Given the description of an element on the screen output the (x, y) to click on. 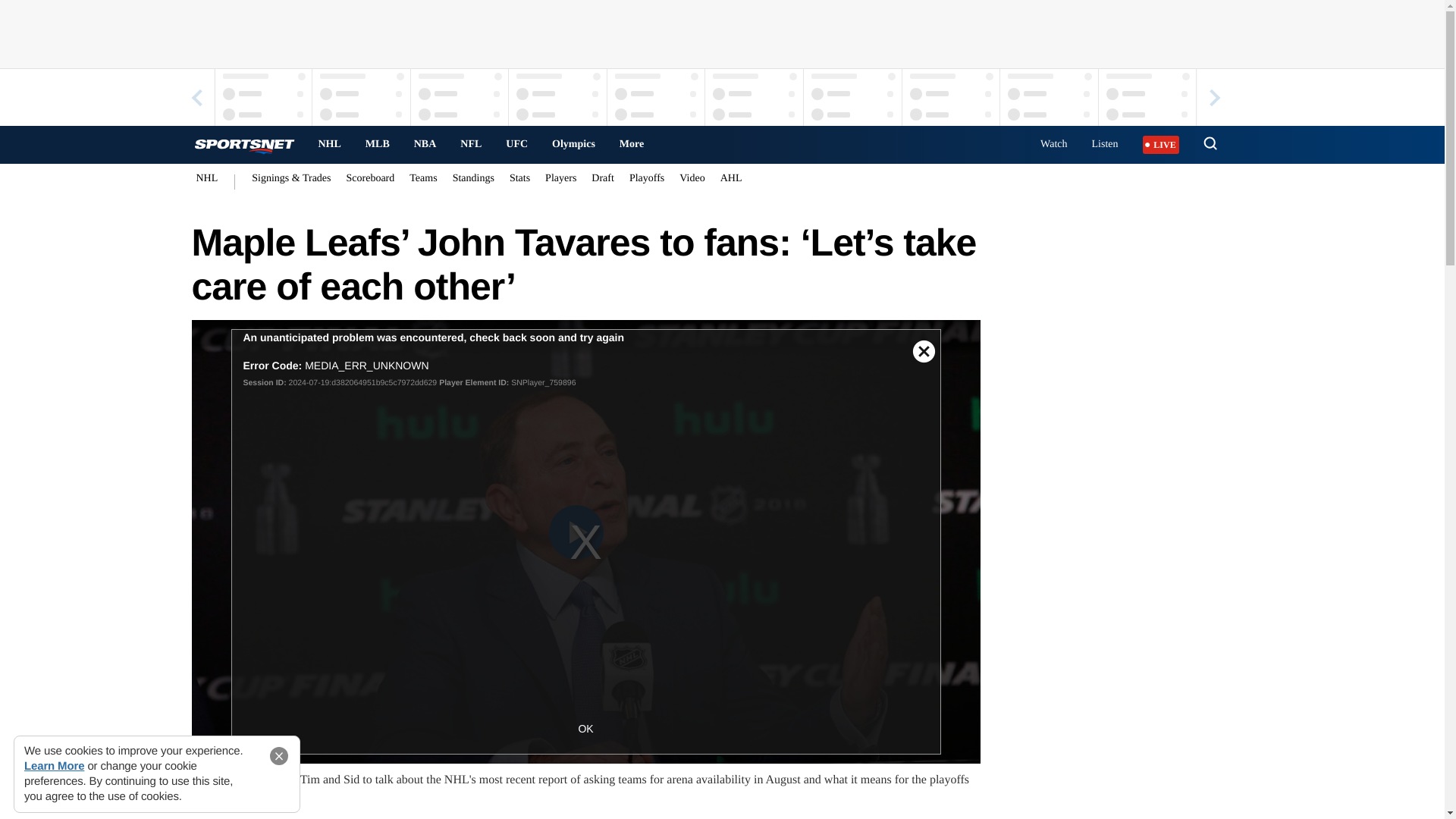
NHL (328, 144)
Play Video (576, 532)
Learn More (54, 766)
Close Modal Dialog (924, 345)
